Given the description of an element on the screen output the (x, y) to click on. 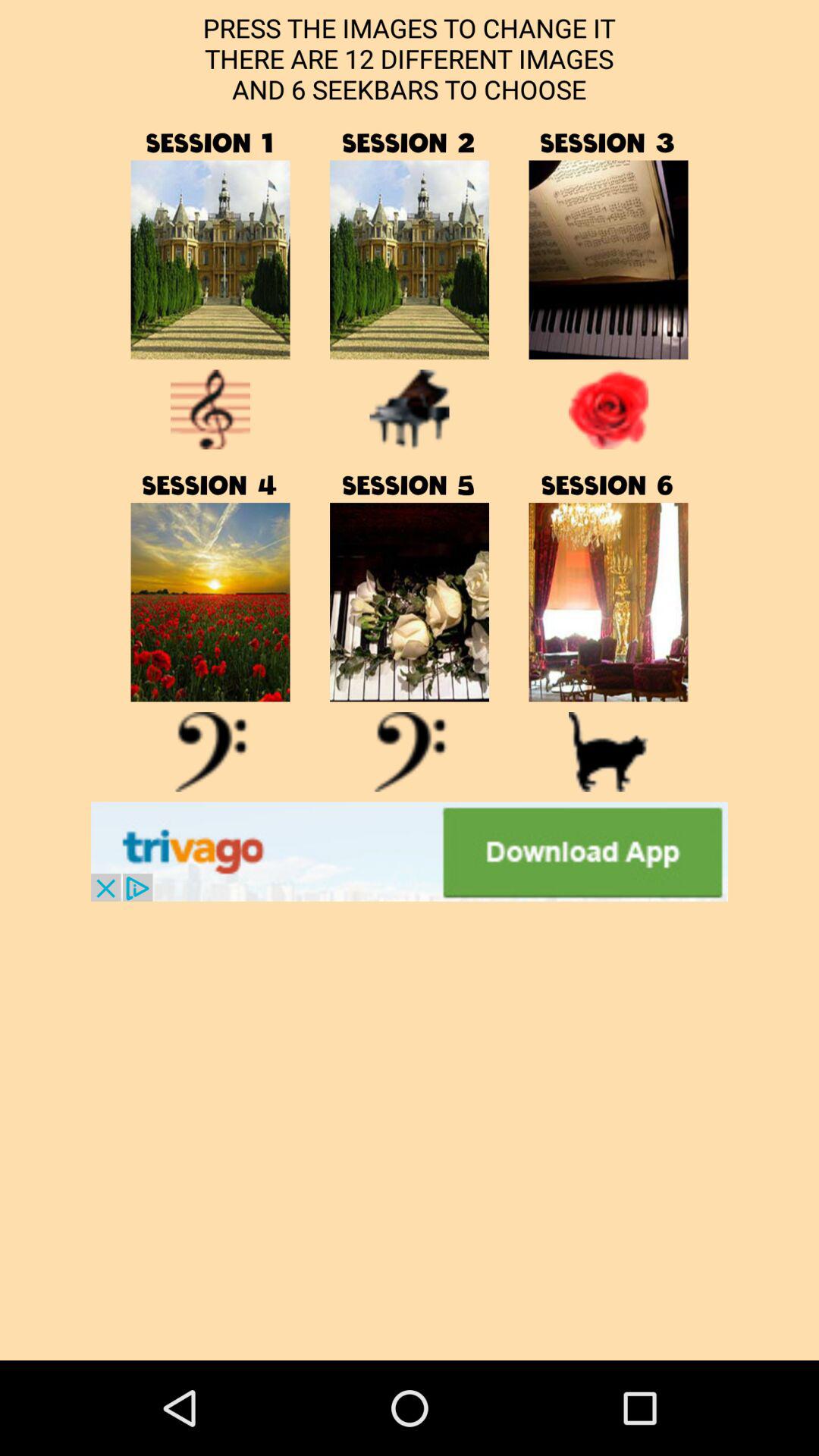
a link to a directory (210, 259)
